Given the description of an element on the screen output the (x, y) to click on. 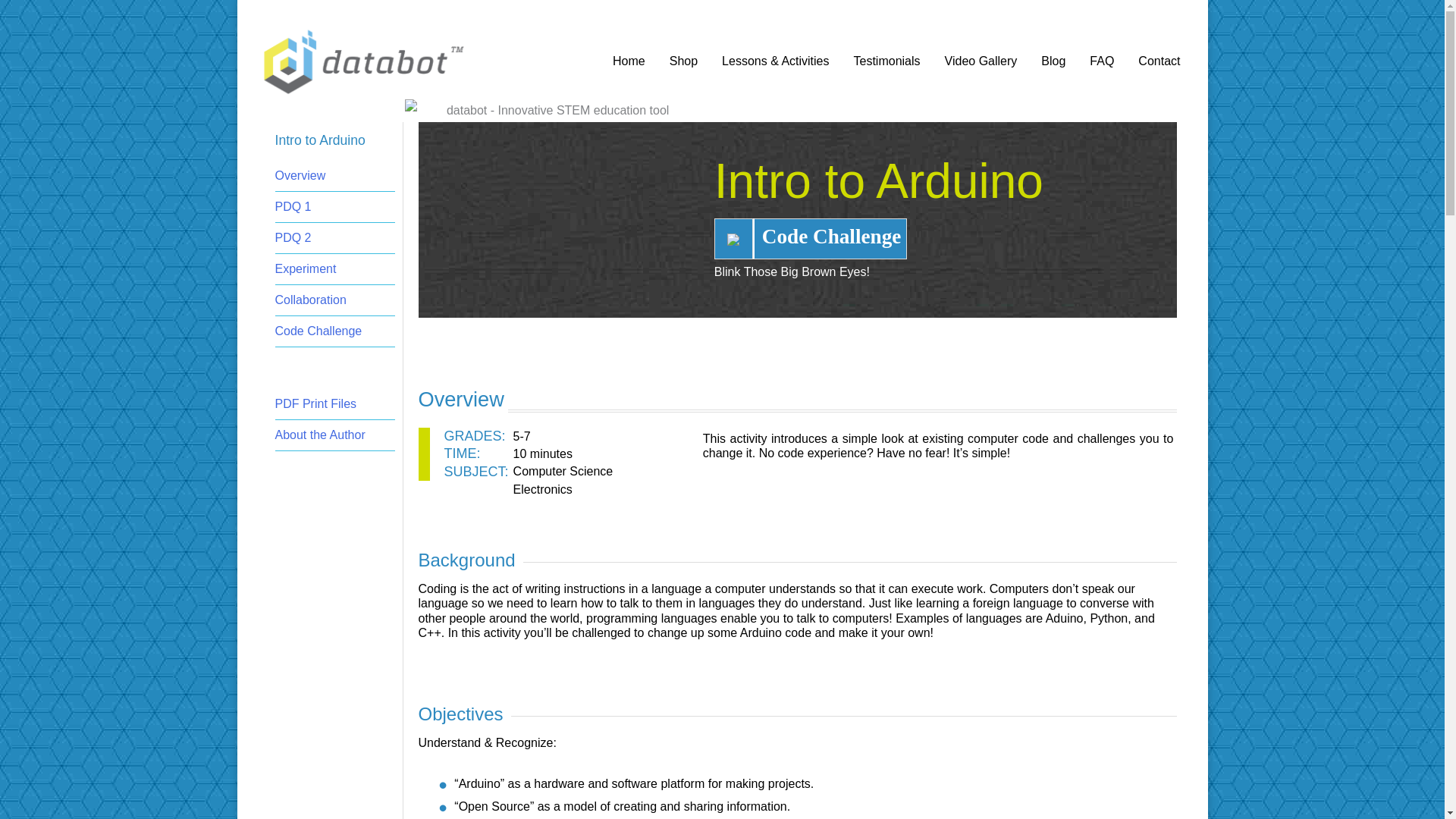
Home (628, 60)
Experiment (305, 268)
About the Author (320, 434)
Overview (299, 174)
FAQ (1101, 60)
PDQ 1 (293, 205)
Blog (1053, 60)
Collaboration (310, 299)
Shop (684, 60)
Contact (1158, 60)
